Given the description of an element on the screen output the (x, y) to click on. 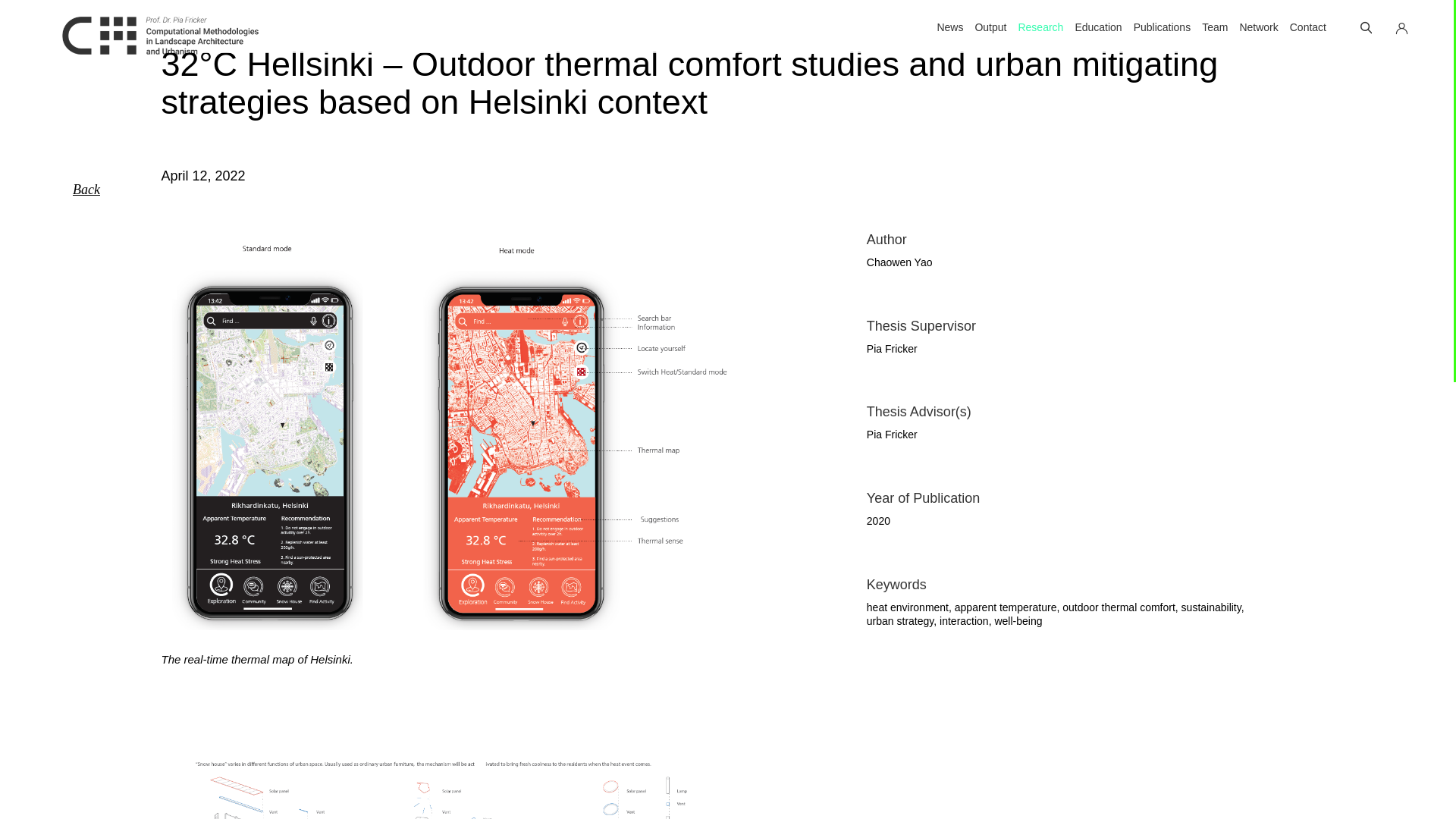
Research (1034, 27)
News (943, 27)
Output (984, 27)
